Given the description of an element on the screen output the (x, y) to click on. 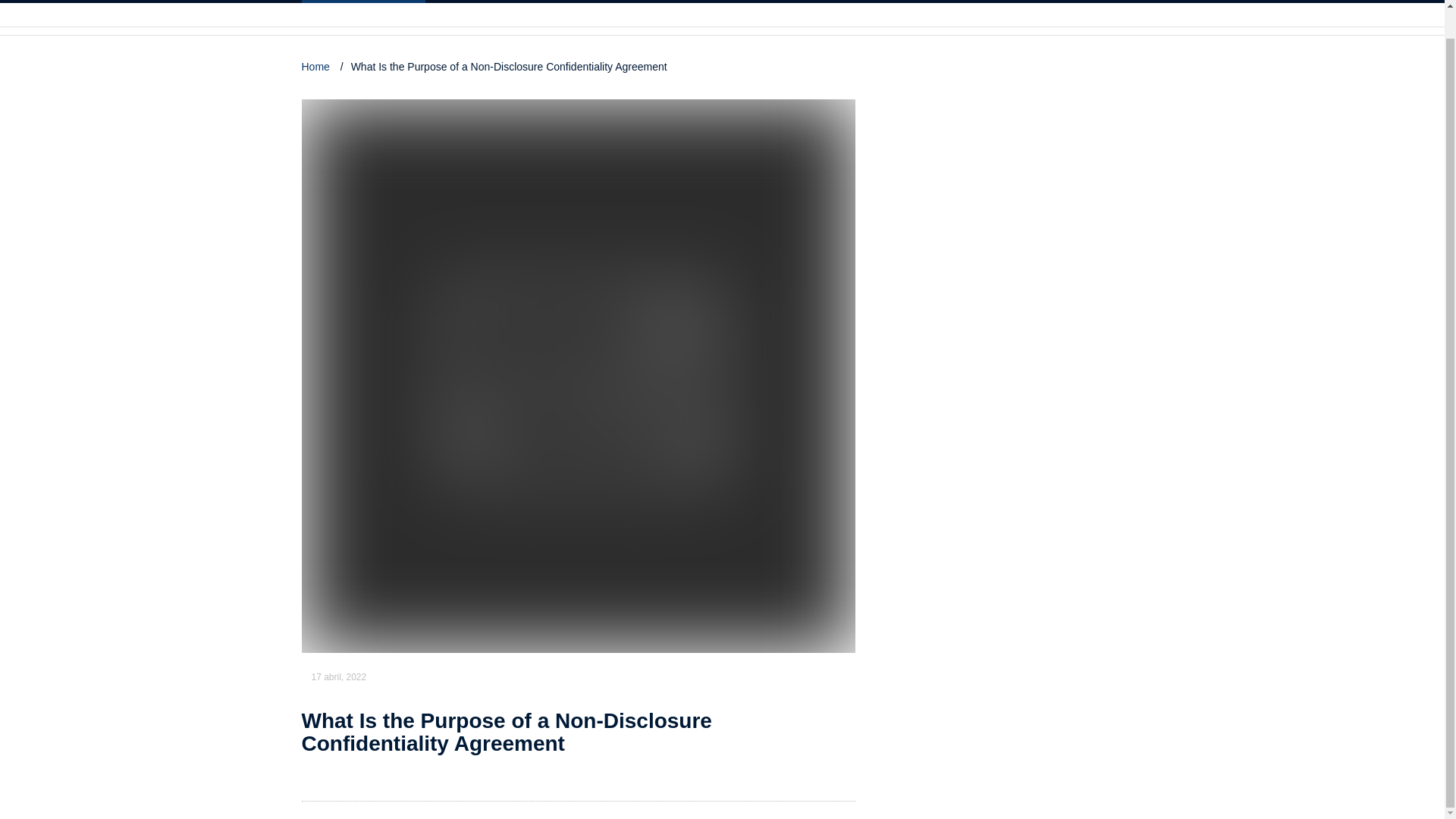
Written Legal Advice Example (696, 2)
Advice for Separation Agreement (522, 2)
Home (317, 66)
